Given the description of an element on the screen output the (x, y) to click on. 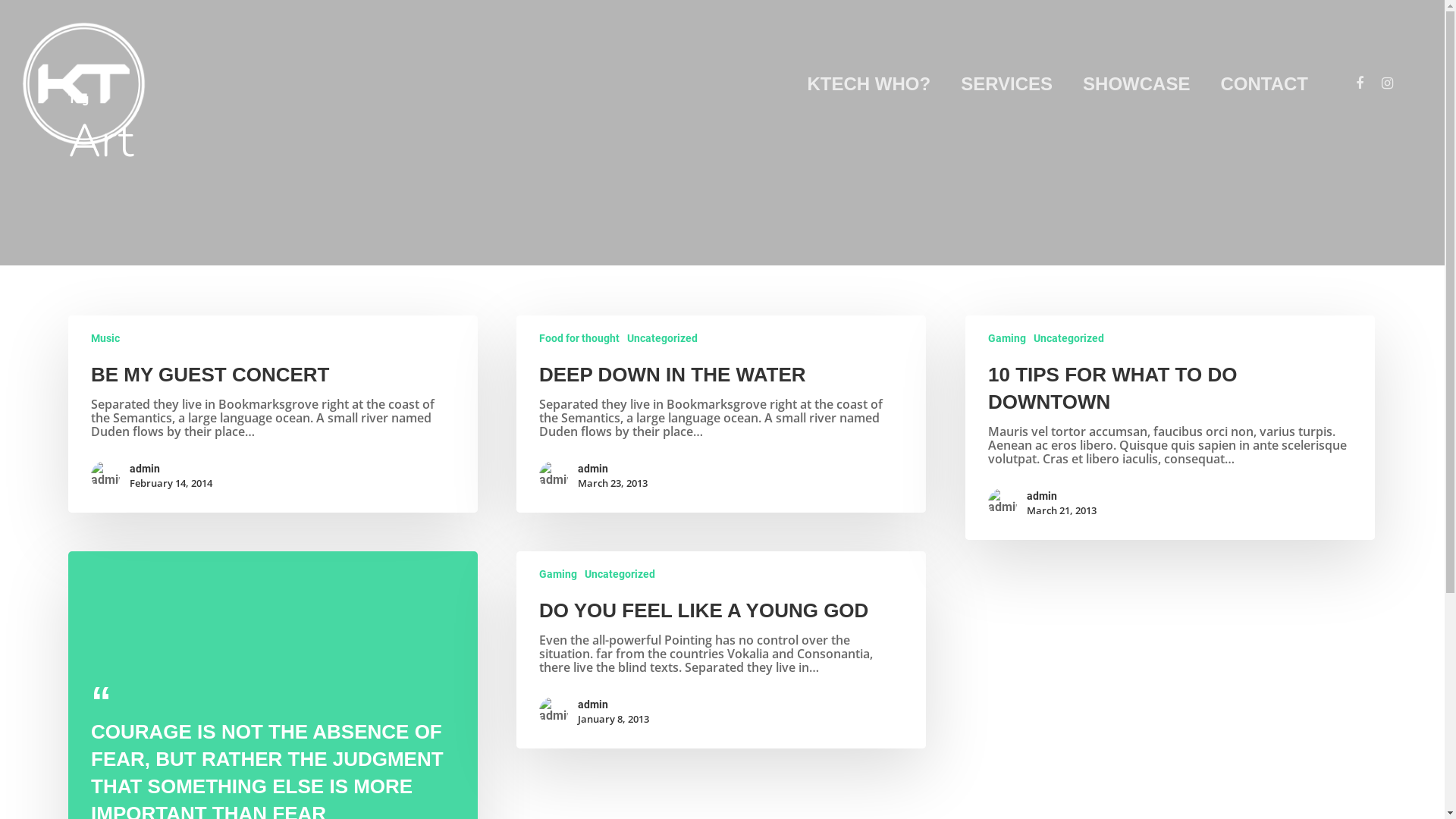
Music Element type: text (105, 338)
admin Element type: text (1061, 495)
SERVICES Element type: text (1006, 84)
SHOWCASE Element type: text (1135, 84)
Uncategorized Element type: text (1068, 338)
10 TIPS FOR WHAT TO DO DOWNTOWN Element type: text (1112, 388)
BE MY GUEST CONCERT Element type: text (210, 374)
Gaming Element type: text (558, 574)
Gaming Element type: text (1007, 338)
Uncategorized Element type: text (619, 574)
admin Element type: text (612, 468)
Uncategorized Element type: text (662, 338)
Food for thought Element type: text (579, 338)
DEEP DOWN IN THE WATER Element type: text (672, 374)
admin Element type: text (170, 468)
CONTACT Element type: text (1264, 84)
admin Element type: text (613, 704)
DO YOU FEEL LIKE A YOUNG GOD Element type: text (703, 610)
KTECH WHO? Element type: text (869, 84)
